Given the description of an element on the screen output the (x, y) to click on. 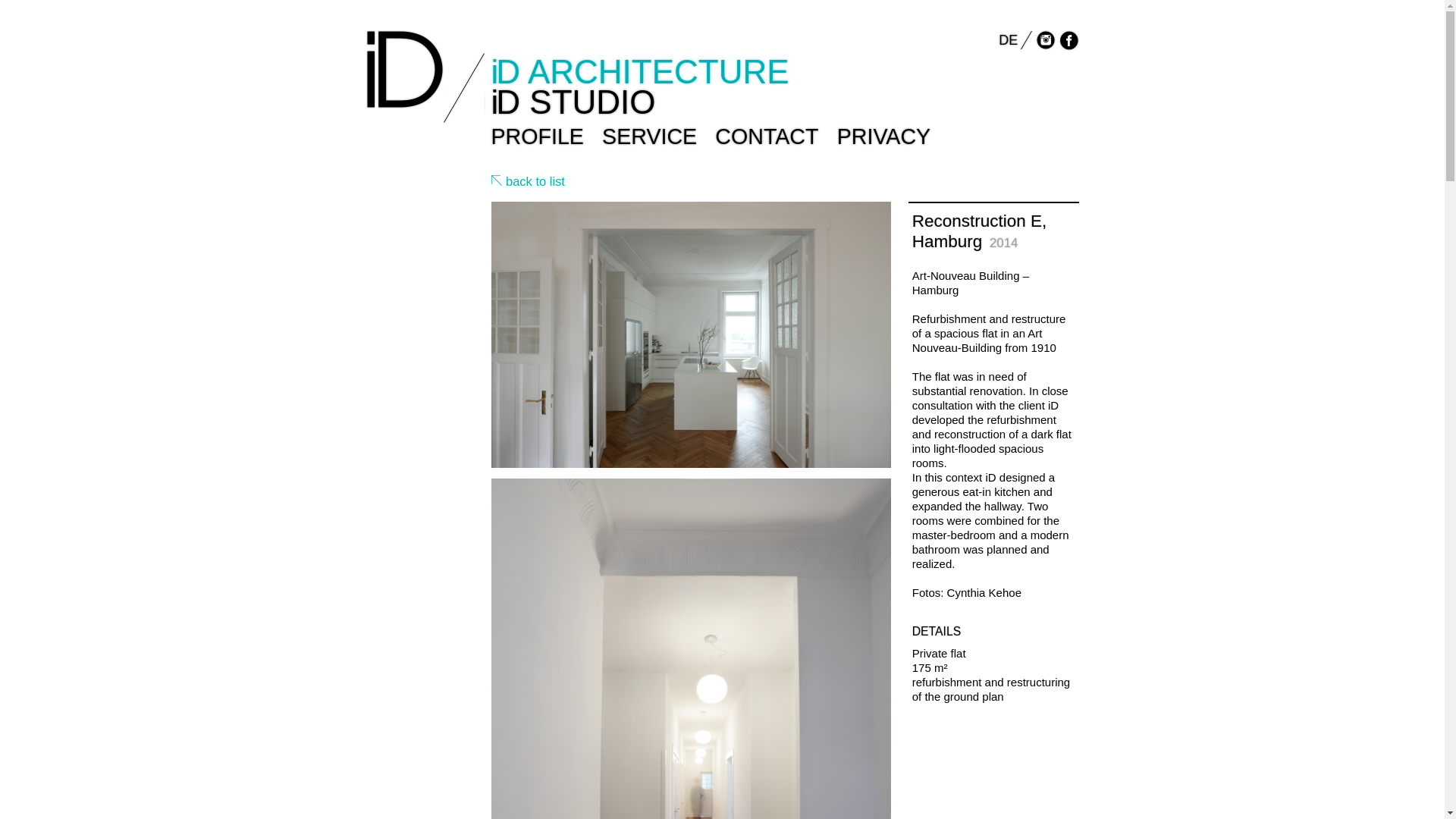
PROFILE (537, 136)
iD STUDIO (574, 101)
SERVICE (649, 136)
